Given the description of an element on the screen output the (x, y) to click on. 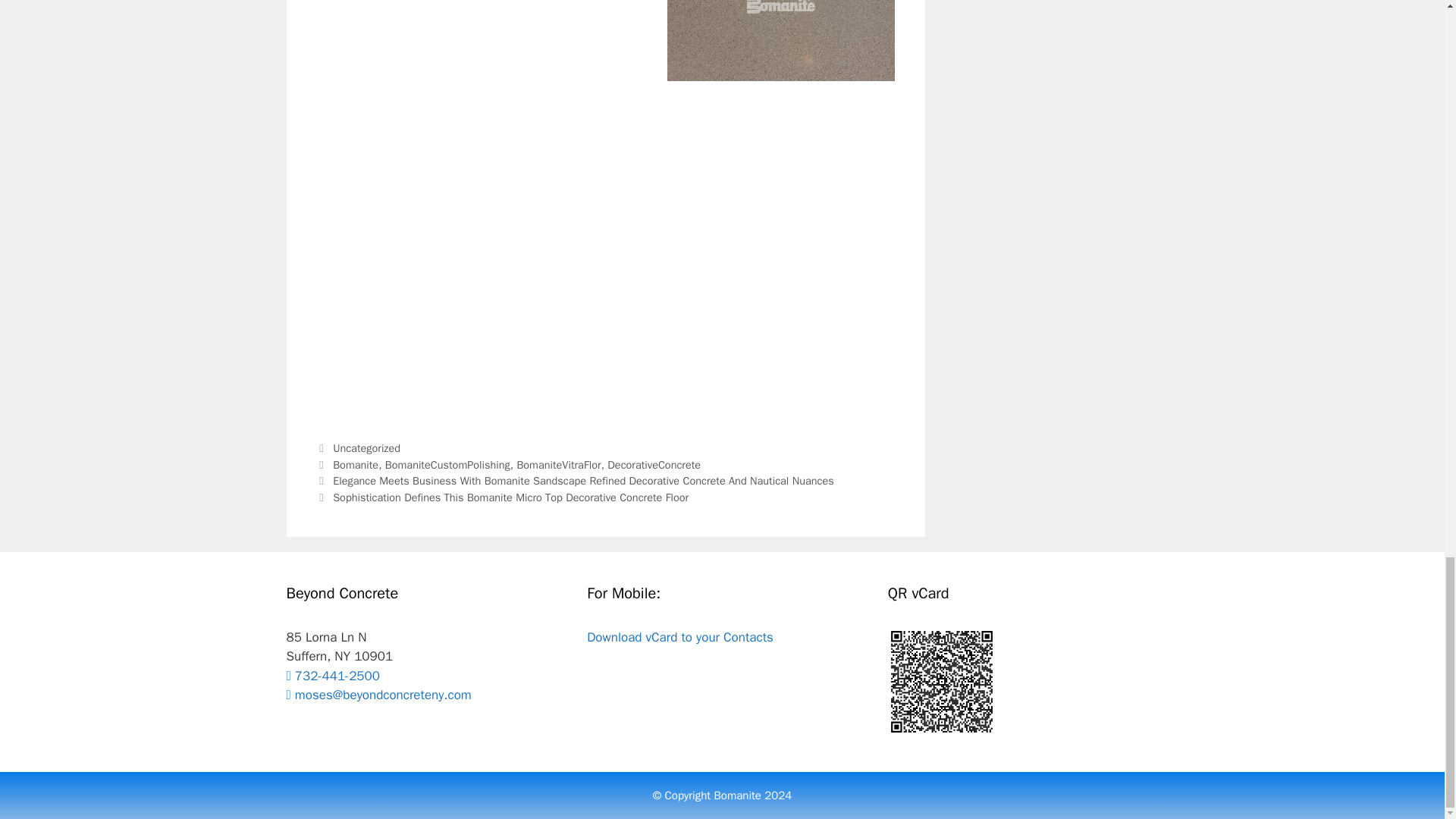
BomaniteVitraFlor (557, 464)
BomaniteCustomPolishing (448, 464)
Bomanite (355, 464)
Uncategorized (366, 448)
DecorativeConcrete (653, 464)
